Given the description of an element on the screen output the (x, y) to click on. 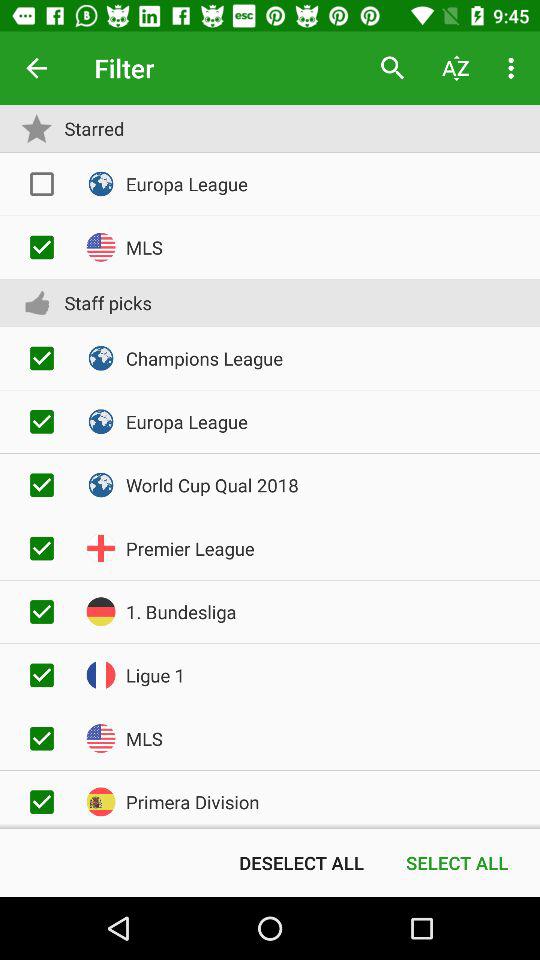
click item to the left of the select all icon (301, 862)
